Given the description of an element on the screen output the (x, y) to click on. 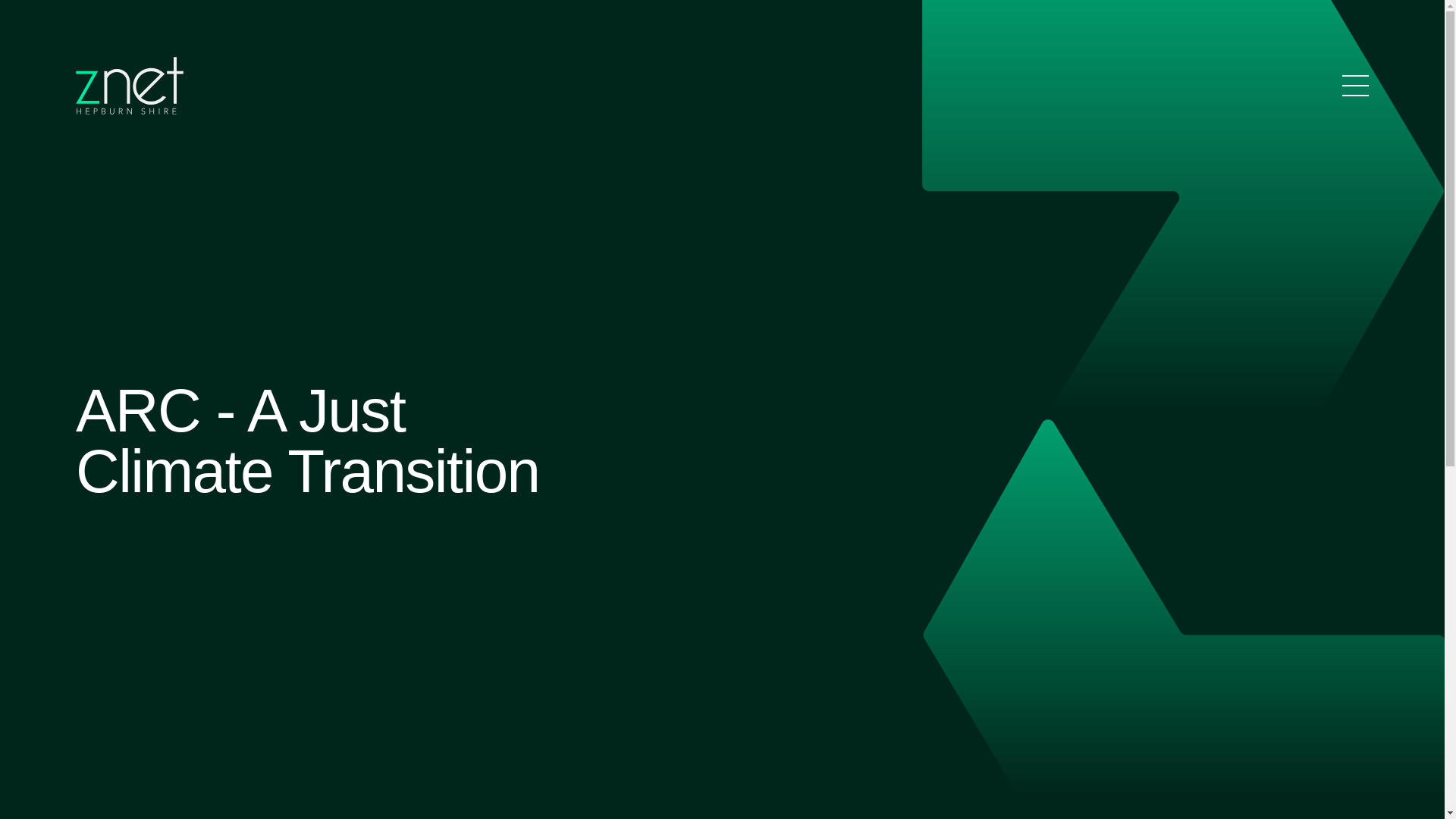
Z-Net Element type: text (129, 85)
